Given the description of an element on the screen output the (x, y) to click on. 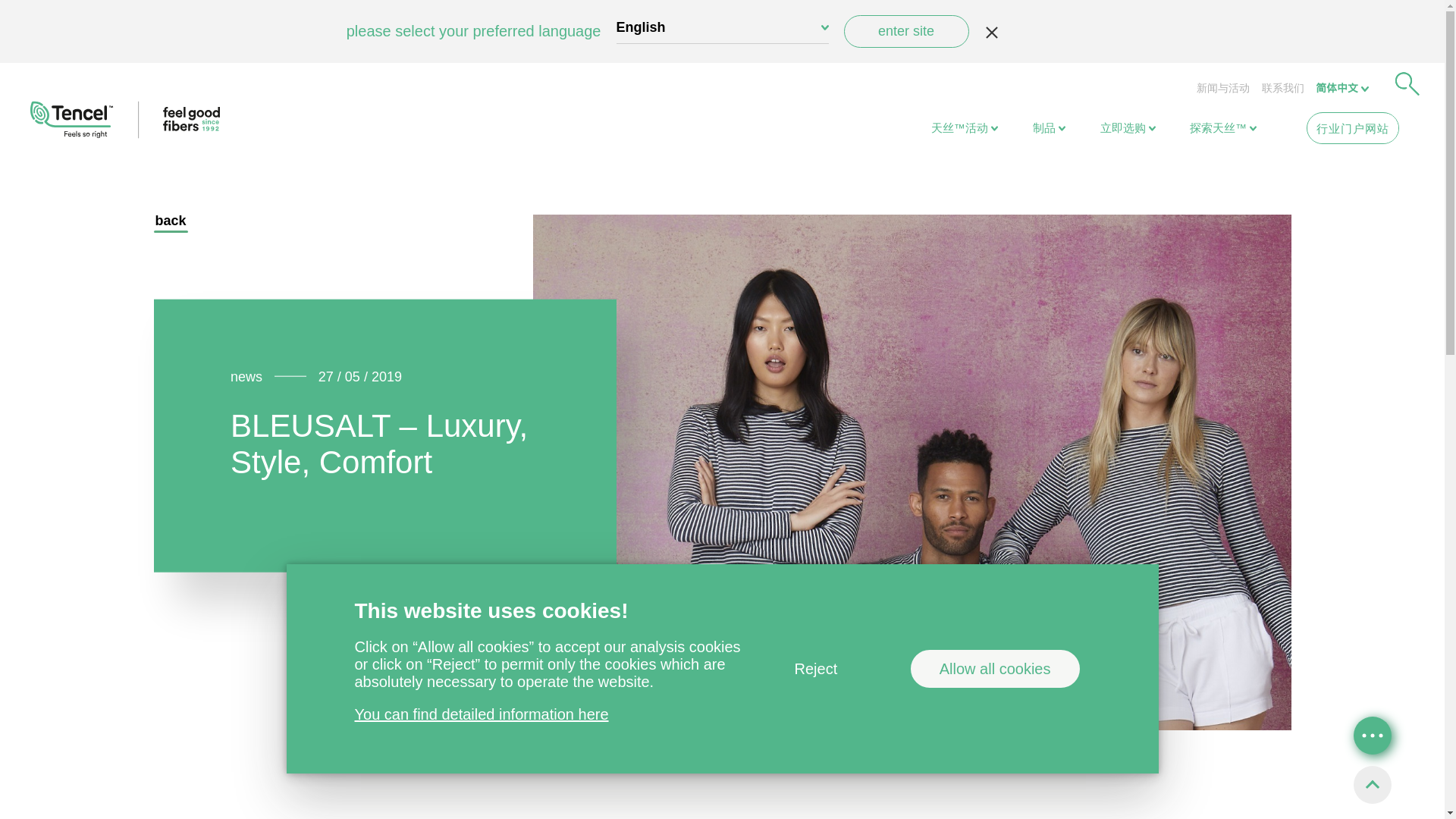
enter site (905, 31)
